Given the description of an element on the screen output the (x, y) to click on. 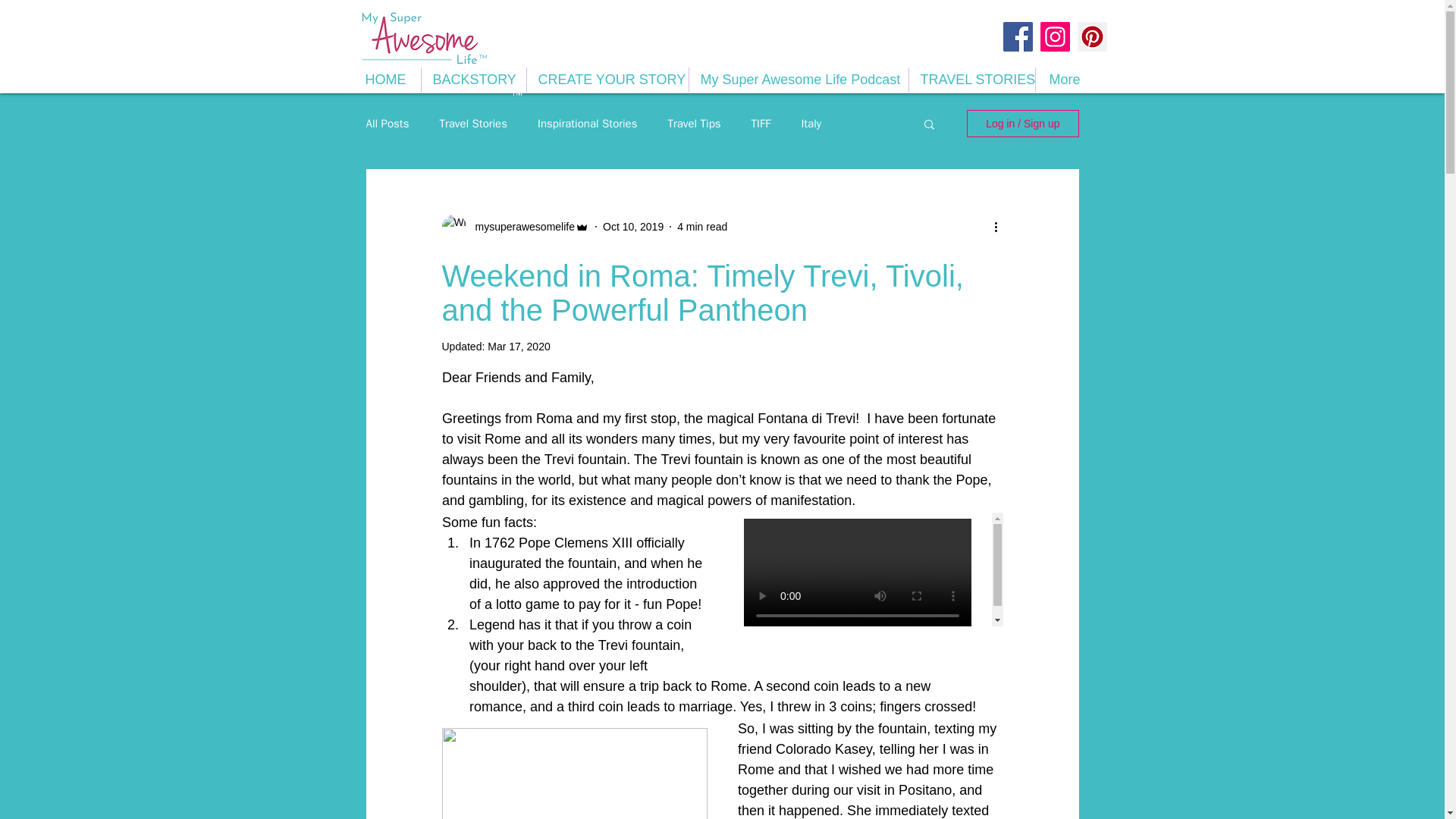
Oct 10, 2019 (632, 225)
4 min read (701, 225)
TIFF (761, 124)
HOME (385, 79)
All Posts (387, 124)
CREATE YOUR STORY (606, 79)
Travel Stories (472, 124)
Travel Tips (693, 124)
Italy (810, 124)
Mar 17, 2020 (518, 346)
TRAVEL STORIES (970, 79)
My Super Awesome Life Podcast (797, 79)
BACKSTORY (473, 79)
Inspirational Stories (587, 124)
ricos-video (869, 569)
